Given the description of an element on the screen output the (x, y) to click on. 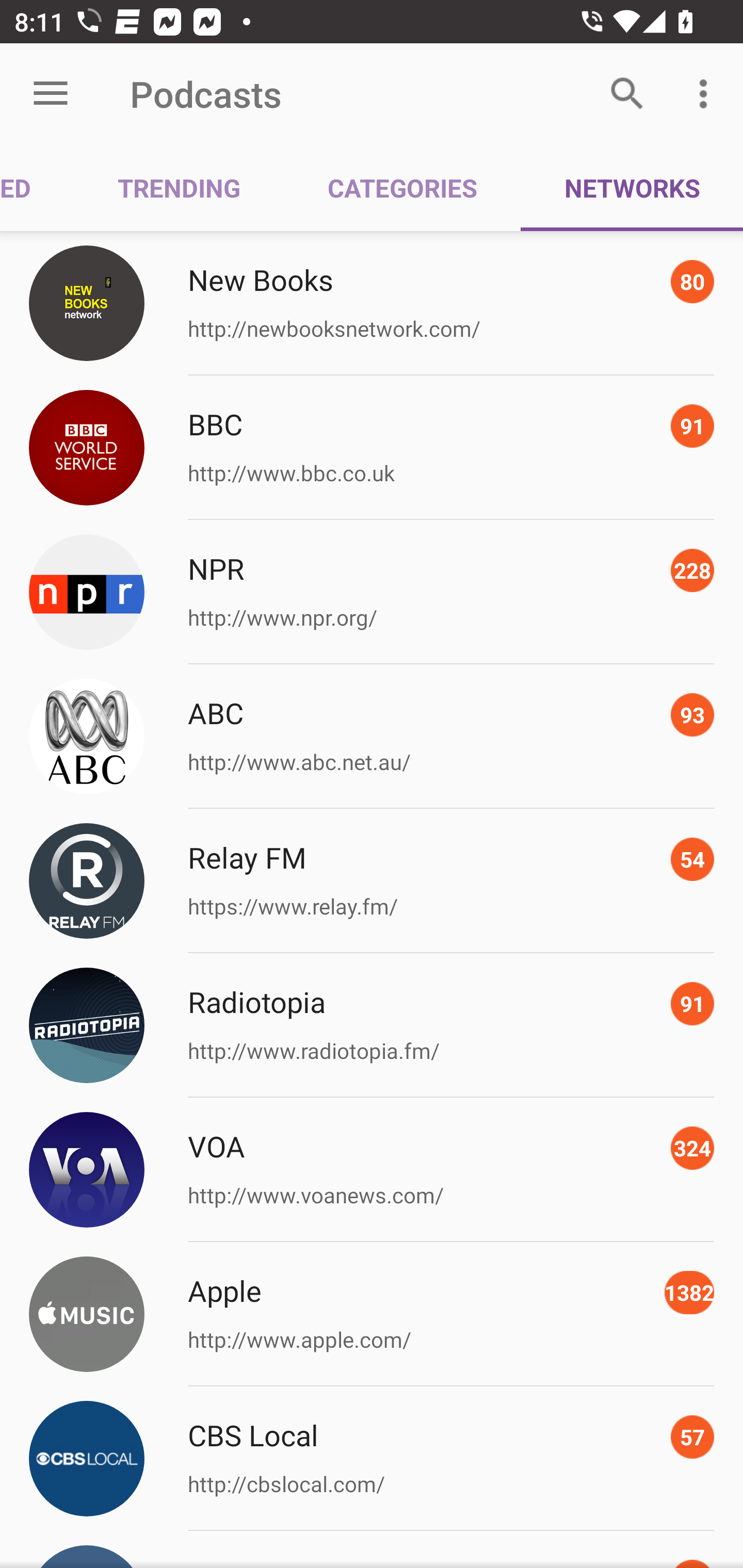
Open menu (50, 93)
Search (626, 93)
More options (706, 93)
TRENDING (178, 187)
CATEGORIES (401, 187)
NETWORKS (631, 187)
Picture New Books 80 http://newbooksnetwork.com/ (371, 302)
Picture BBC 91 http://www.bbc.co.uk (371, 447)
Picture NPR 228 http://www.npr.org/ (371, 592)
Picture ABC 93 http://www.abc.net.au/ (371, 736)
Picture Relay FM 54 https://www.relay.fm/ (371, 881)
Picture Radiotopia 91 http://www.radiotopia.fm/ (371, 1025)
Picture VOA 324 http://www.voanews.com/ (371, 1169)
Picture Apple 1382 http://www.apple.com/ (371, 1313)
Picture CBS Local 57 http://cbslocal.com/ (371, 1458)
